Given the description of an element on the screen output the (x, y) to click on. 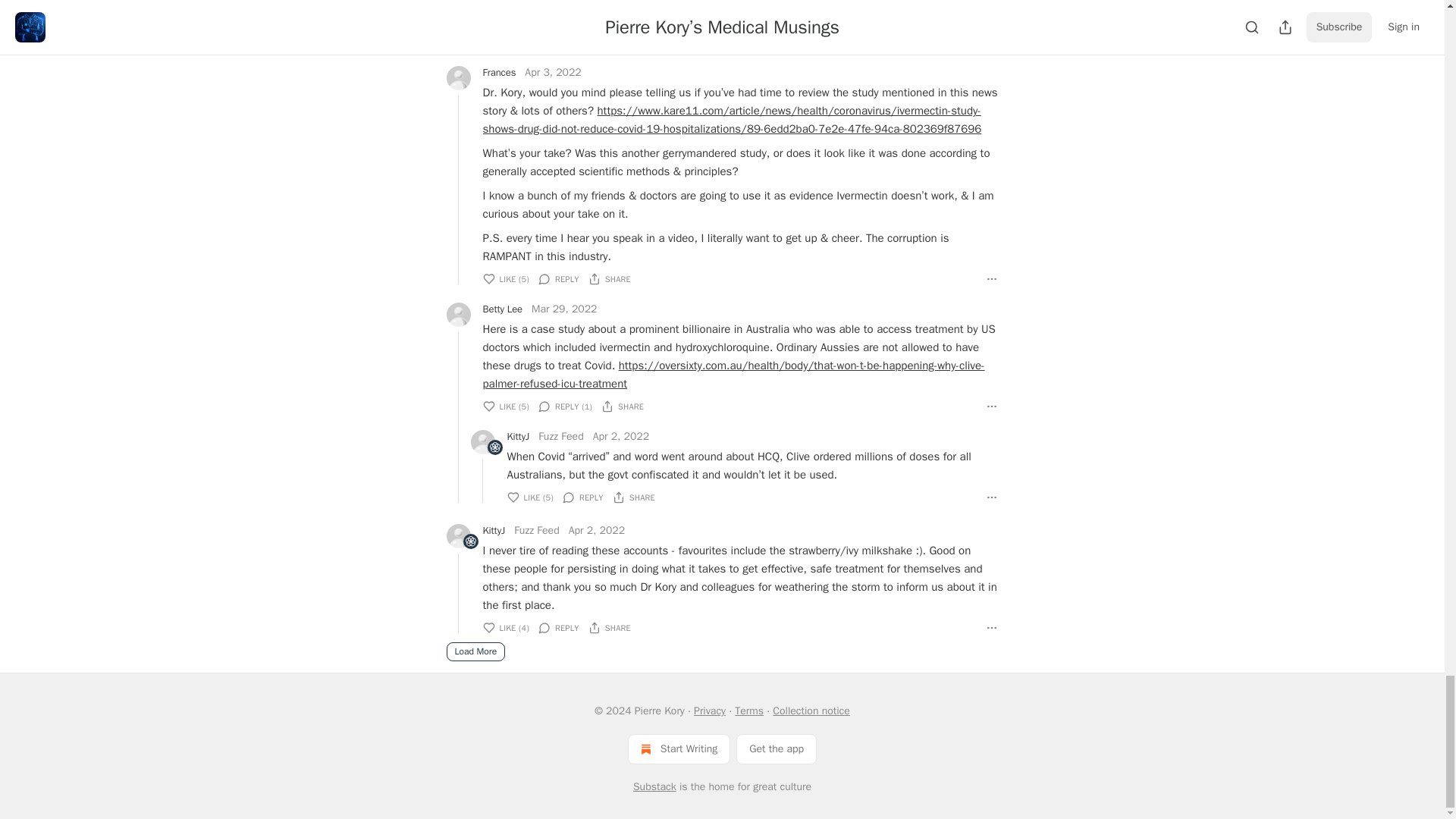
Founding Member (494, 447)
Founding Member (494, 447)
Founding Member (470, 541)
Founding Member (470, 540)
